Given the description of an element on the screen output the (x, y) to click on. 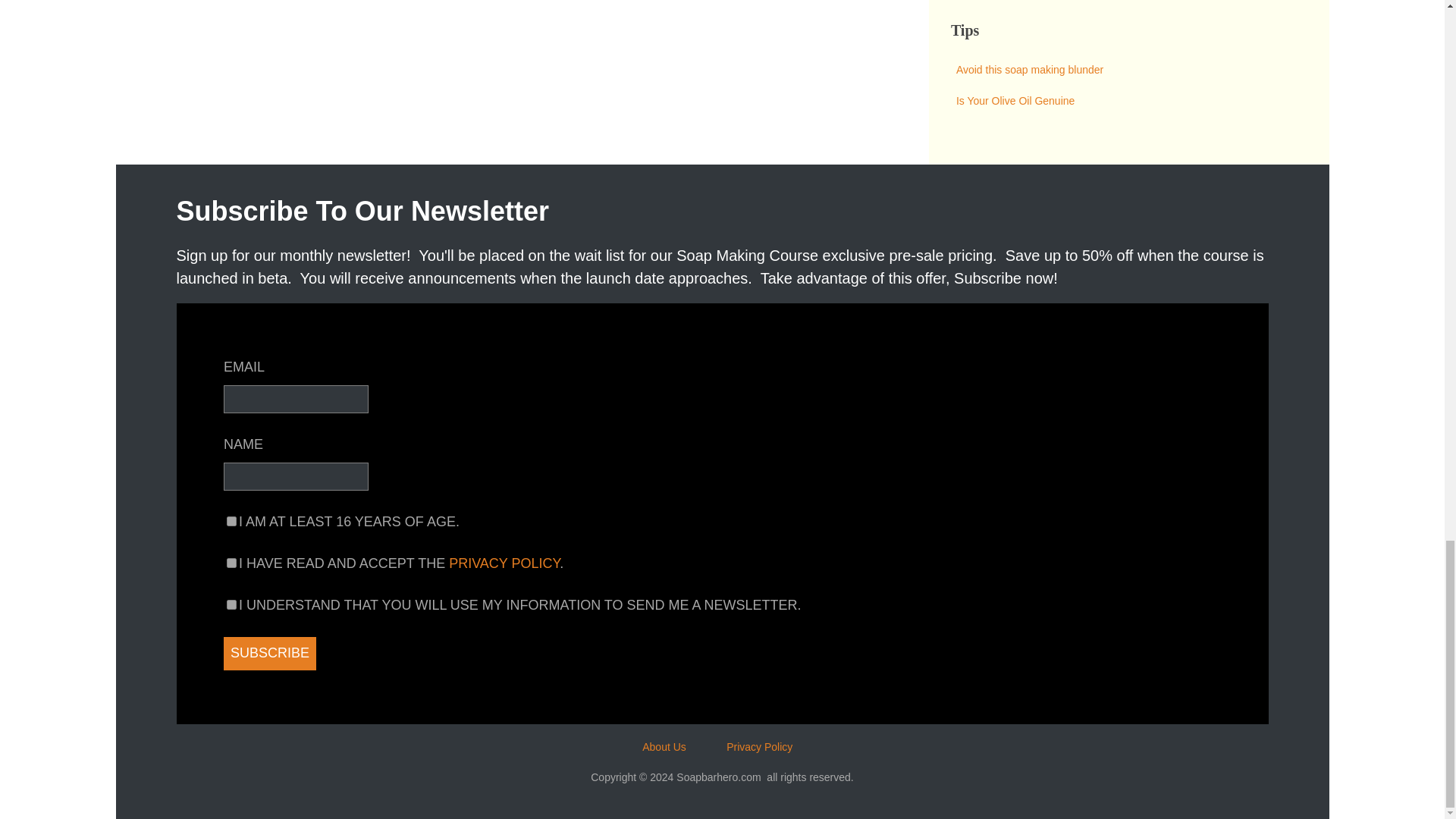
on (231, 562)
on (231, 521)
on (231, 604)
